Given the description of an element on the screen output the (x, y) to click on. 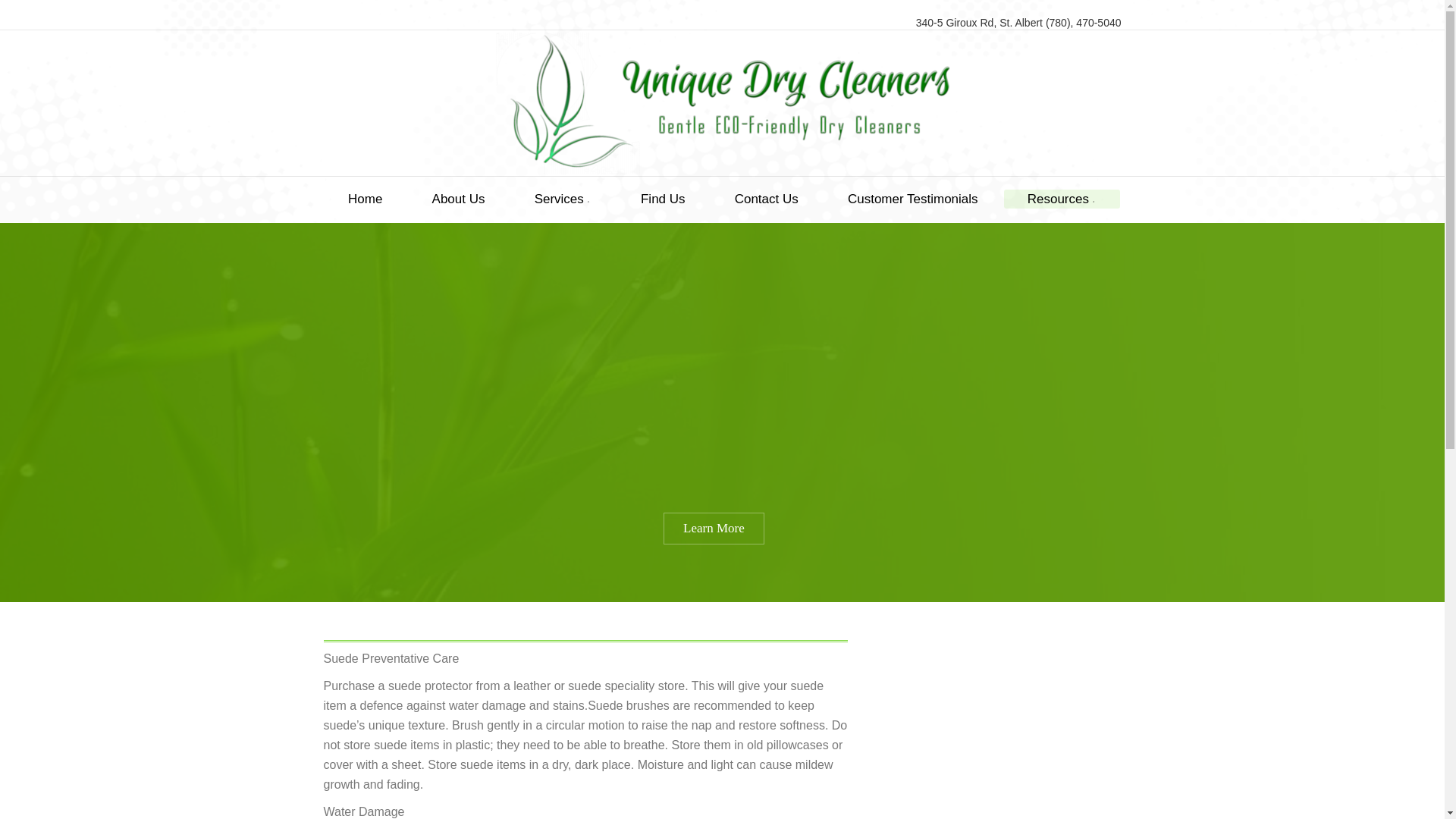
Customer Testimonials (912, 198)
About Us (458, 198)
Resources (1061, 198)
Contact Us (766, 198)
Find Us (662, 198)
Services (562, 198)
Home (365, 198)
